Given the description of an element on the screen output the (x, y) to click on. 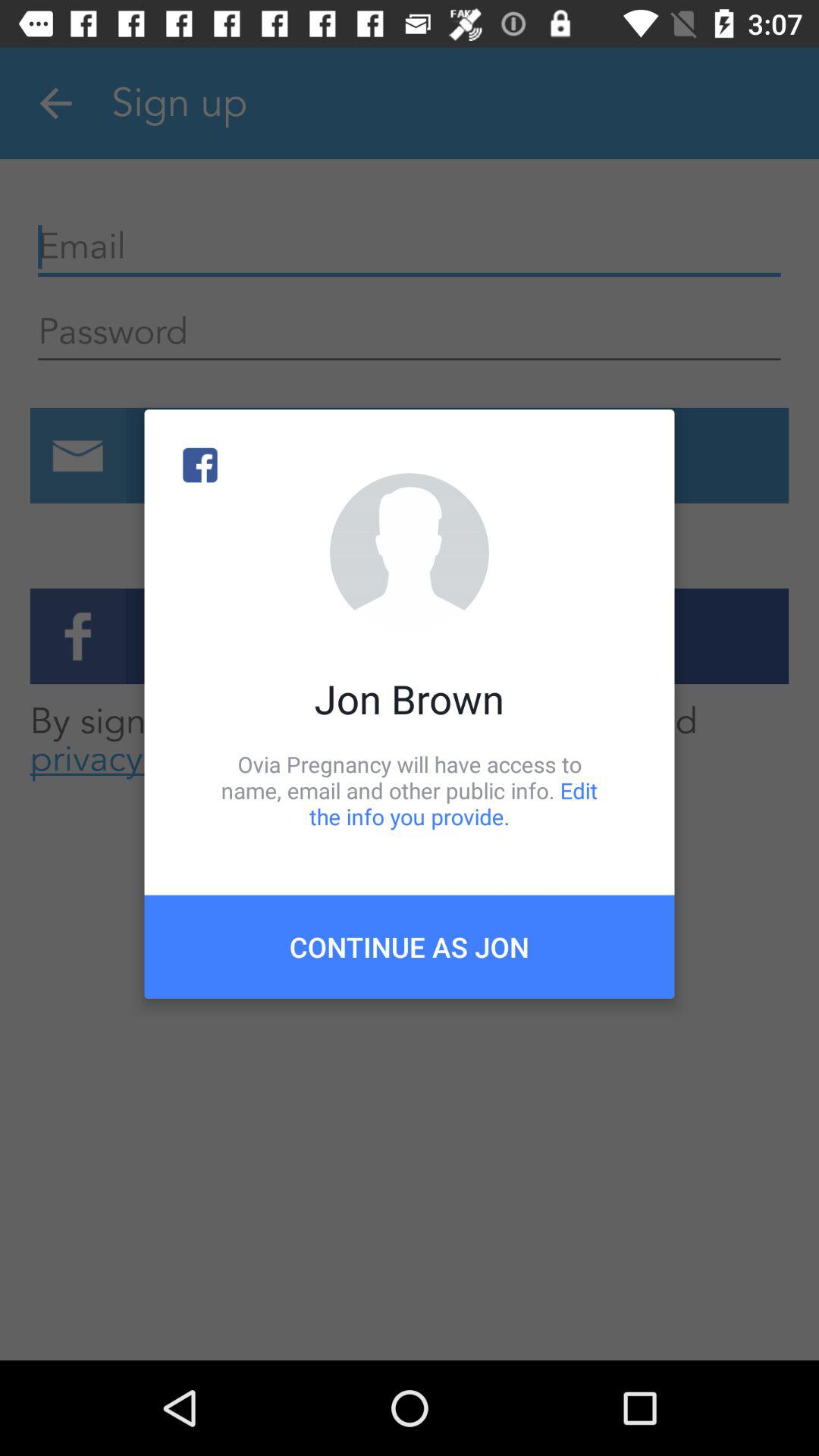
press the item below jon brown icon (409, 790)
